Given the description of an element on the screen output the (x, y) to click on. 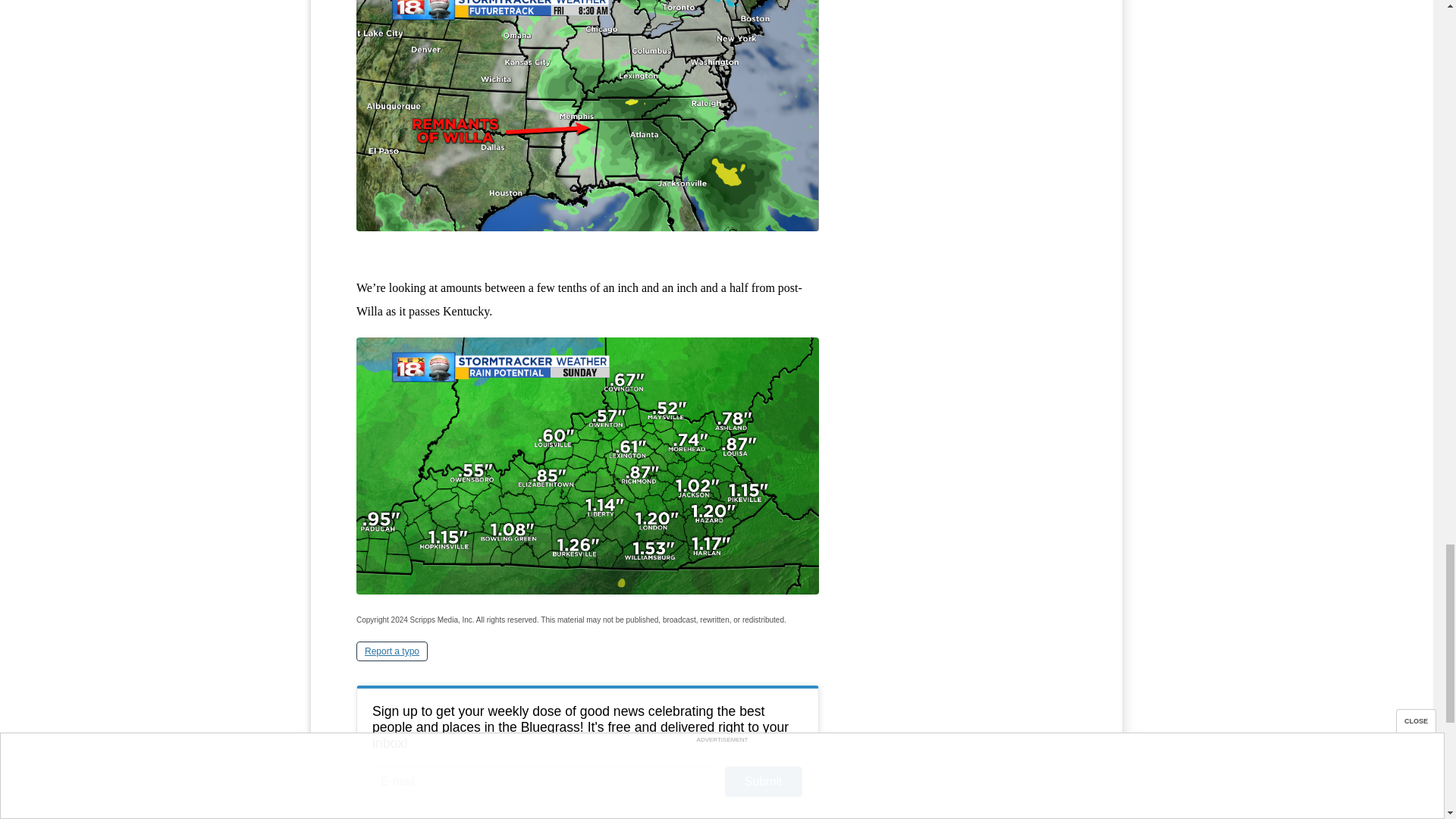
Submit (763, 781)
